Given the description of an element on the screen output the (x, y) to click on. 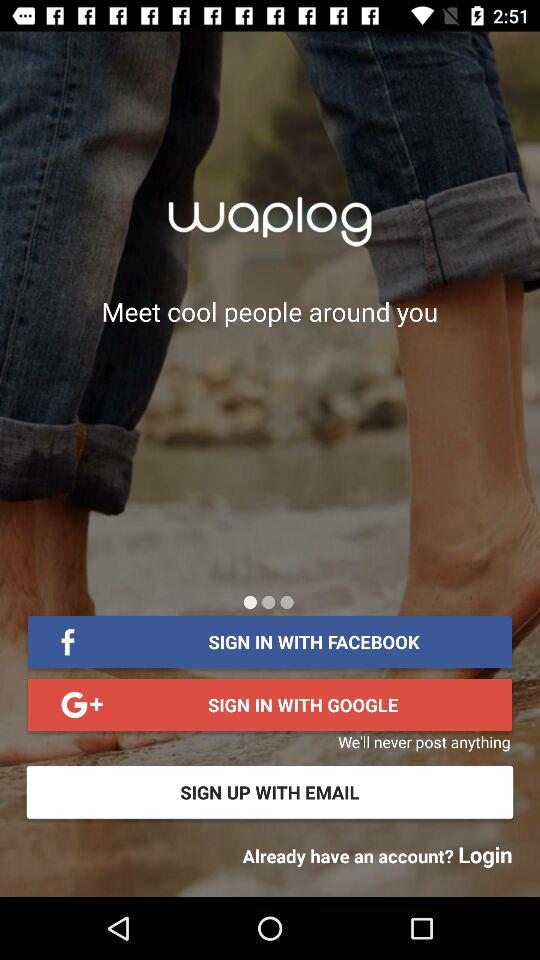
select icon below the meet cool people item (286, 601)
